Given the description of an element on the screen output the (x, y) to click on. 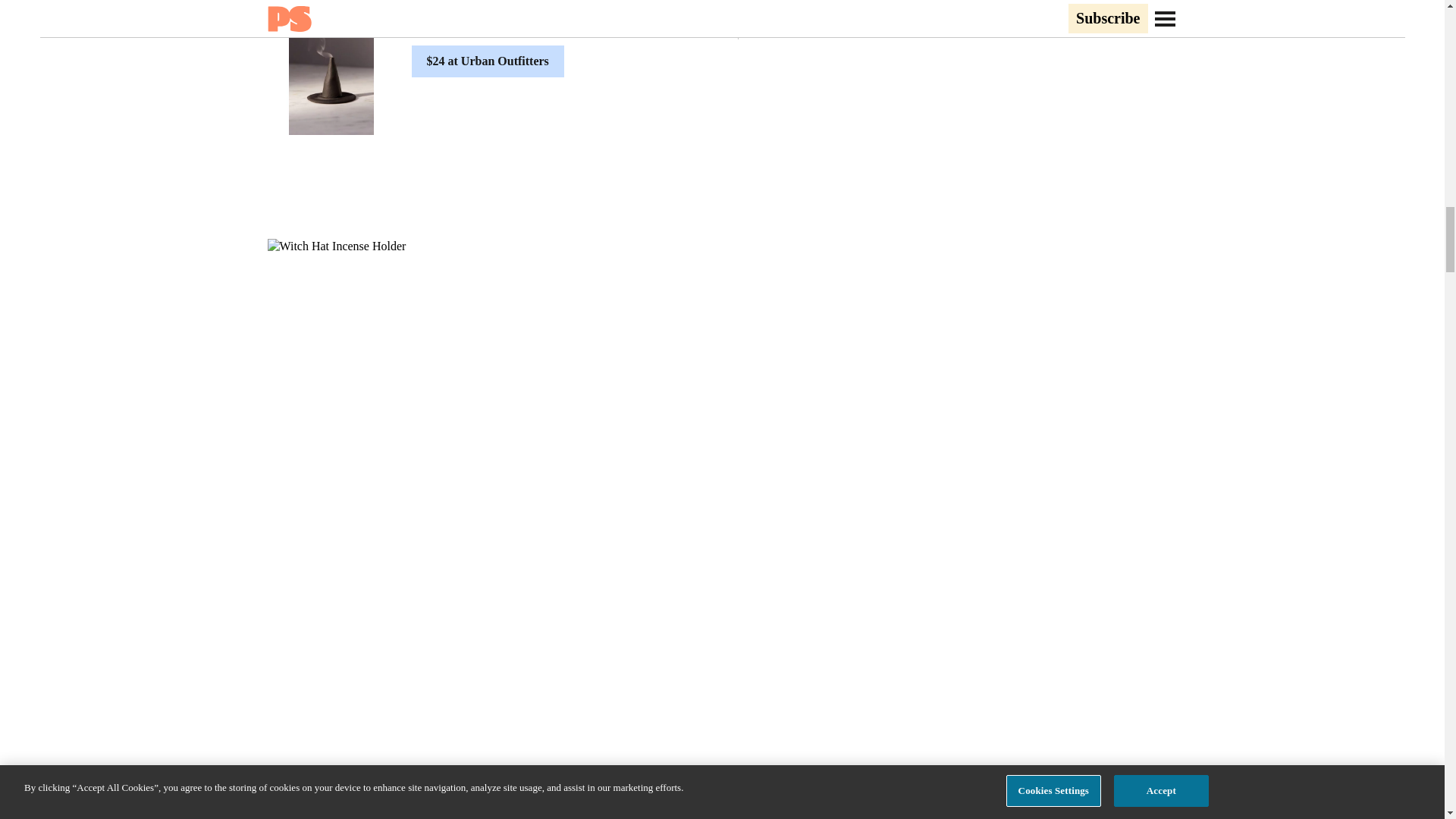
urbanoutfitters.com (298, 815)
